Given the description of an element on the screen output the (x, y) to click on. 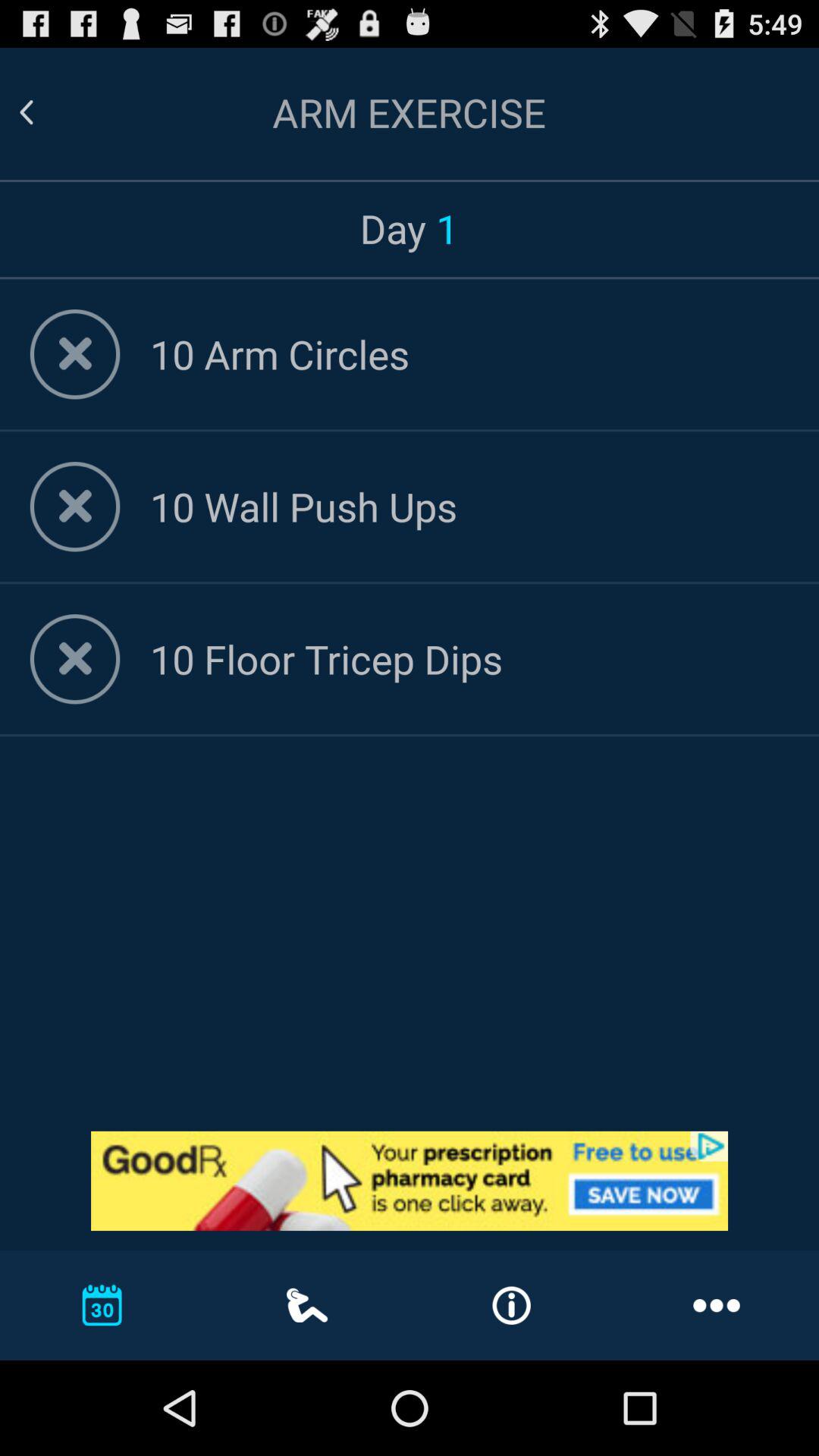
go back (44, 112)
